Given the description of an element on the screen output the (x, y) to click on. 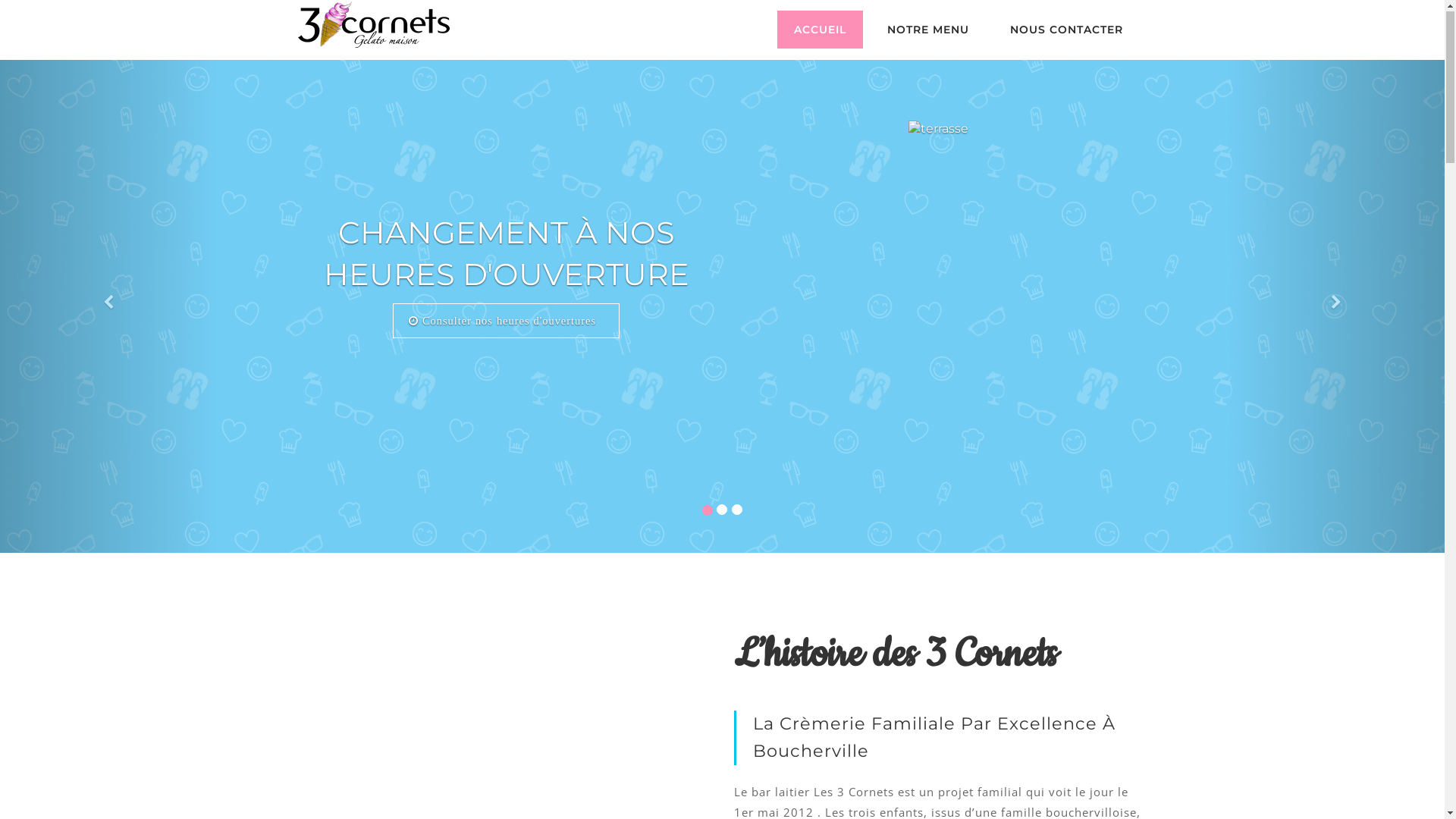
NOUS CONTACTER Element type: text (1066, 30)
Previous Element type: text (108, 306)
ACCUEIL Element type: text (819, 30)
Consulter nos heures d'ouvertures Element type: text (505, 321)
Next Element type: text (1335, 306)
NOTRE MENU Element type: text (927, 30)
